Given the description of an element on the screen output the (x, y) to click on. 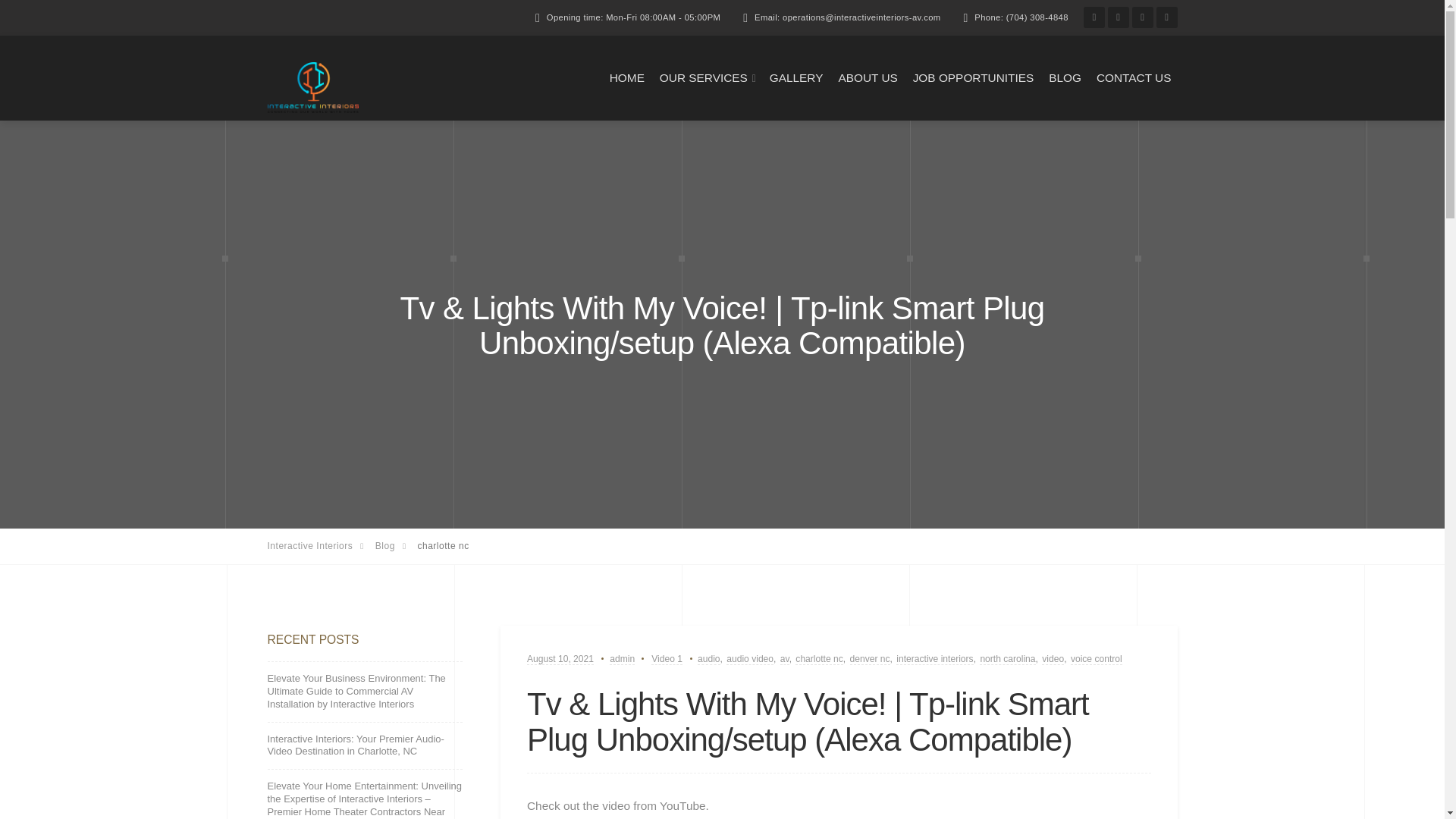
charlotte nc (818, 659)
audio video (749, 659)
OUR SERVICES (703, 78)
Go to Blog. (396, 545)
August 10, 2021 (560, 659)
voice control (1096, 659)
Go to Interactive Interiors. (320, 545)
Interactive Interiors (320, 545)
video (1053, 659)
Video 1 (666, 659)
